Given the description of an element on the screen output the (x, y) to click on. 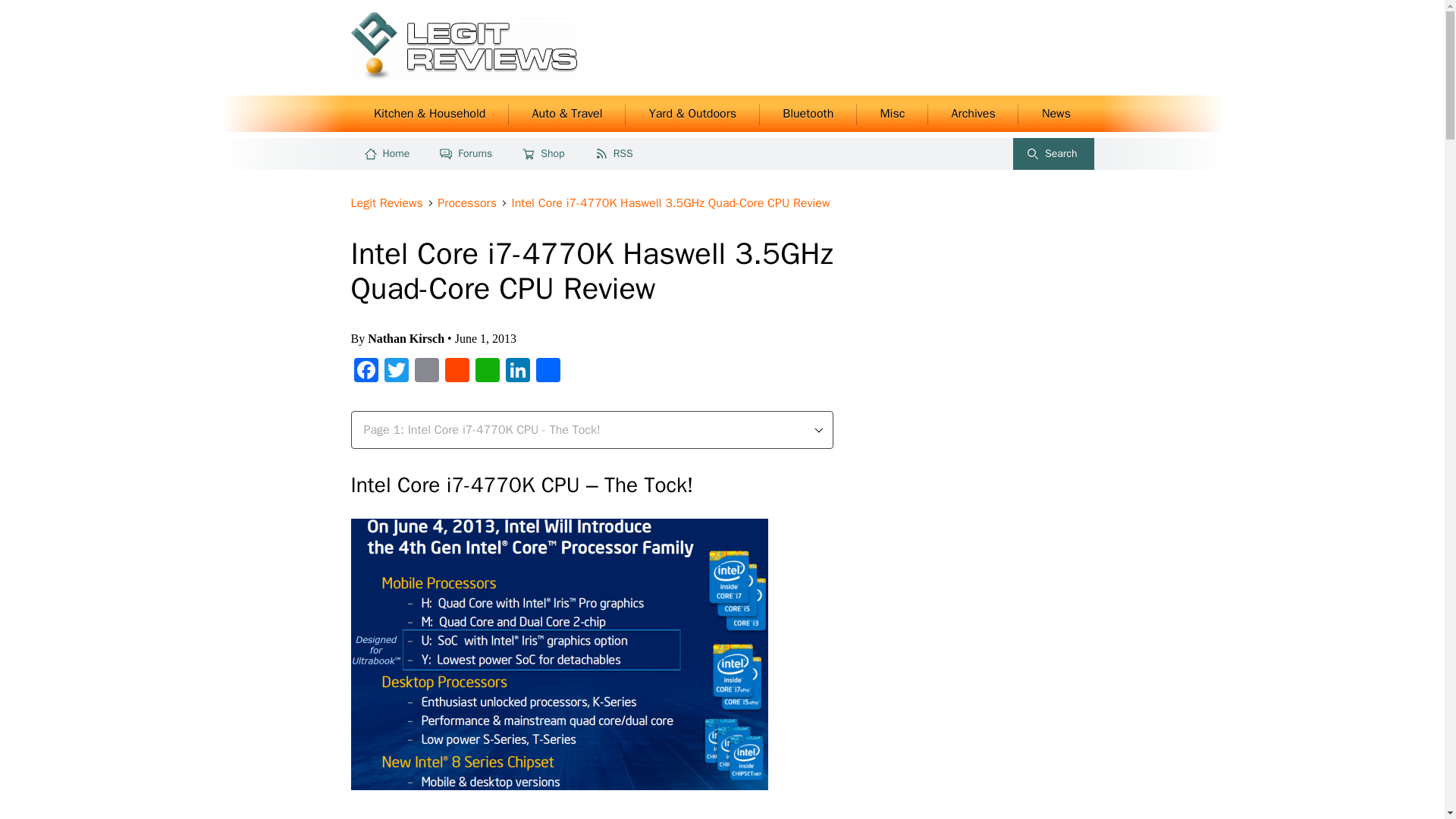
Legit Reviews (388, 202)
LinkedIn (517, 371)
Home (388, 153)
Bluetooth (808, 113)
Twitter (395, 371)
Processors (468, 202)
RSS (614, 153)
Email (425, 371)
Share (547, 371)
